Given the description of an element on the screen output the (x, y) to click on. 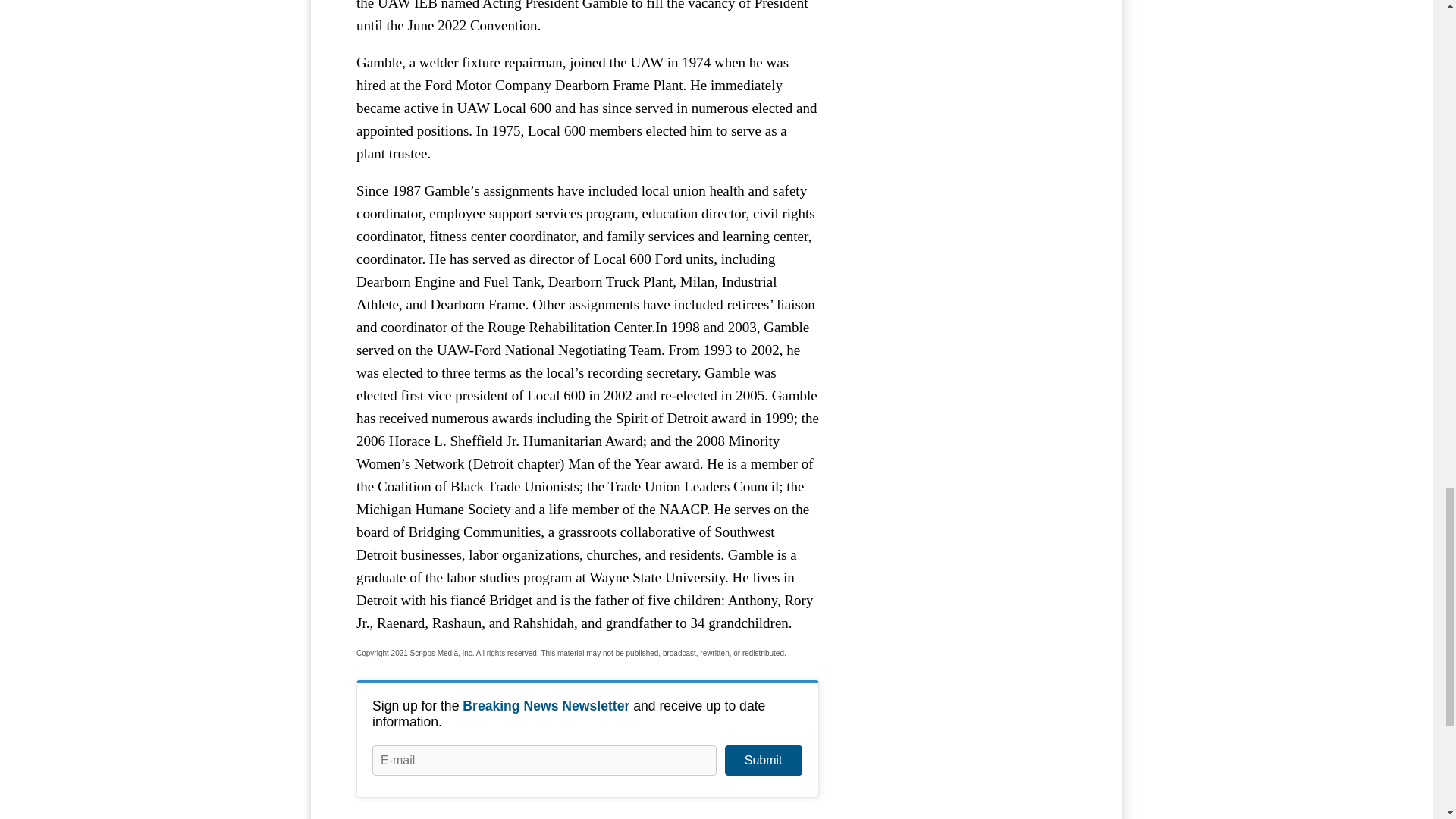
Submit (763, 760)
